Given the description of an element on the screen output the (x, y) to click on. 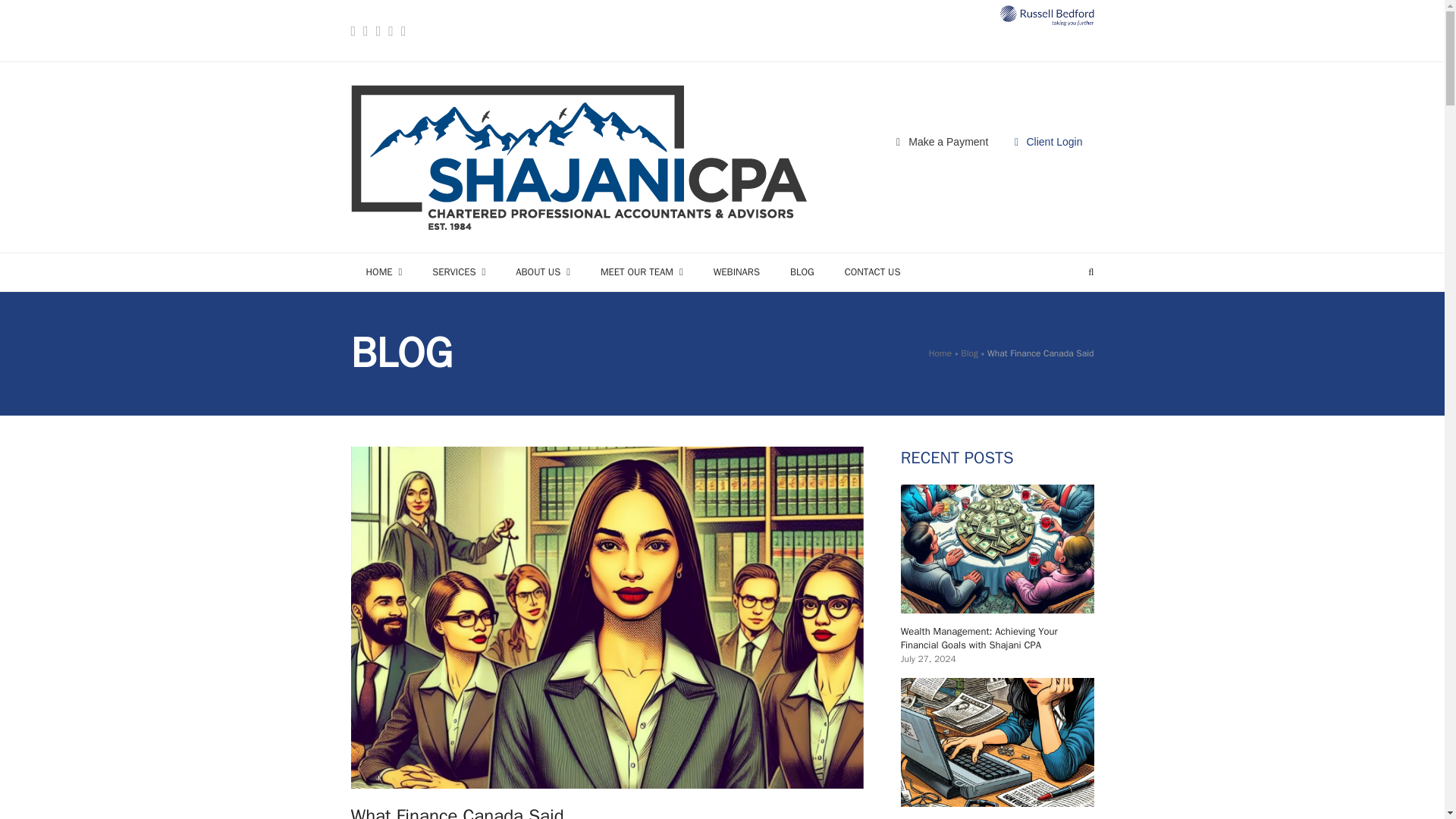
ABOUT US (542, 272)
MEET OUR TEAM (641, 272)
Russell Bedford International (1046, 14)
SERVICES (458, 272)
Client Login (1048, 142)
Make a Payment (941, 142)
CONTACT US (872, 272)
WEBINARS (736, 272)
HOME (383, 272)
BLOG (801, 272)
